Given the description of an element on the screen output the (x, y) to click on. 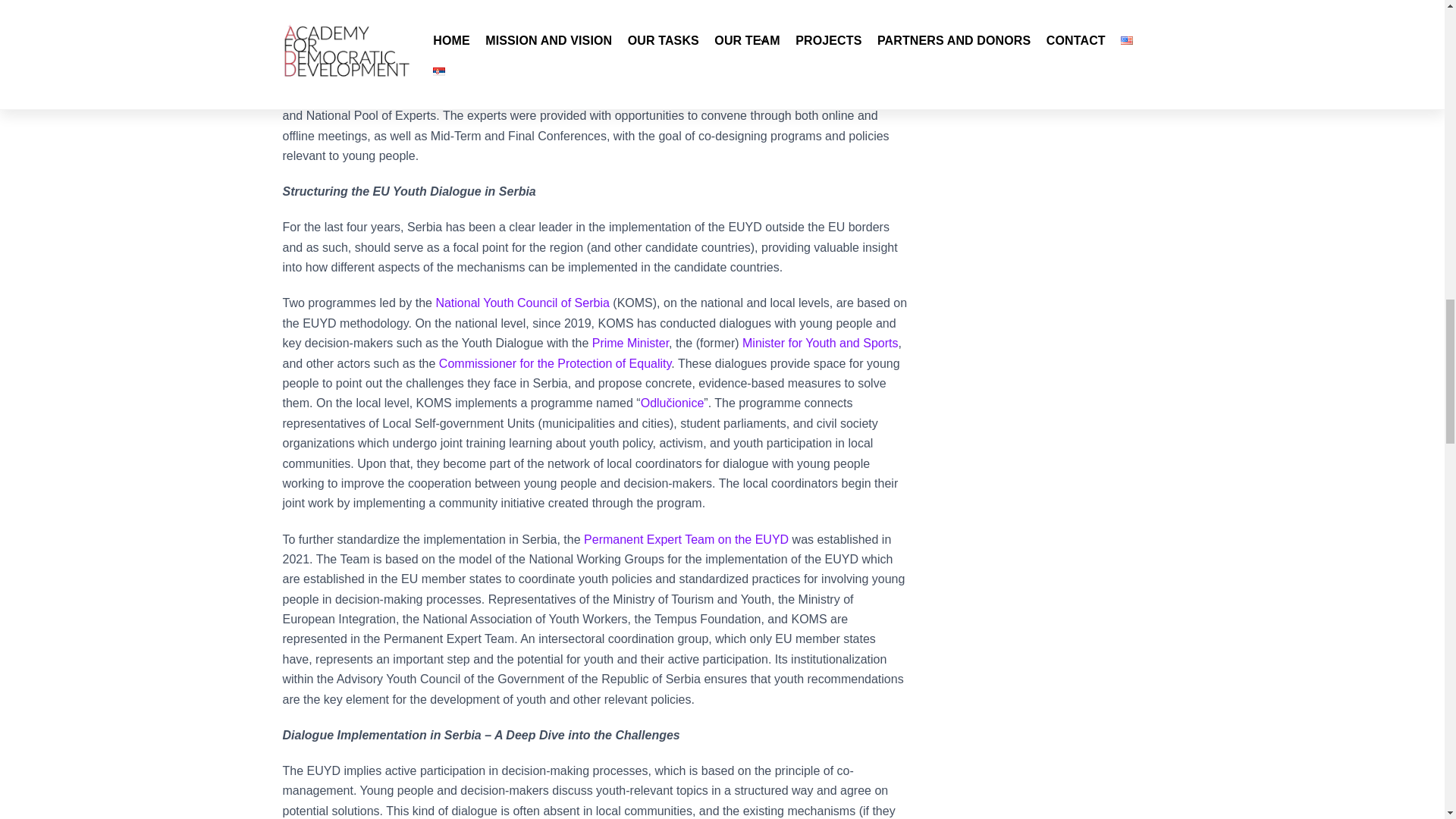
Minister for Youth and Sports (820, 342)
Commissioner for the Protection of Equality (555, 363)
Prime Minister (630, 342)
National Youth Council of Serbia (522, 302)
Permanent Expert Team on the EUYD (686, 539)
